Given the description of an element on the screen output the (x, y) to click on. 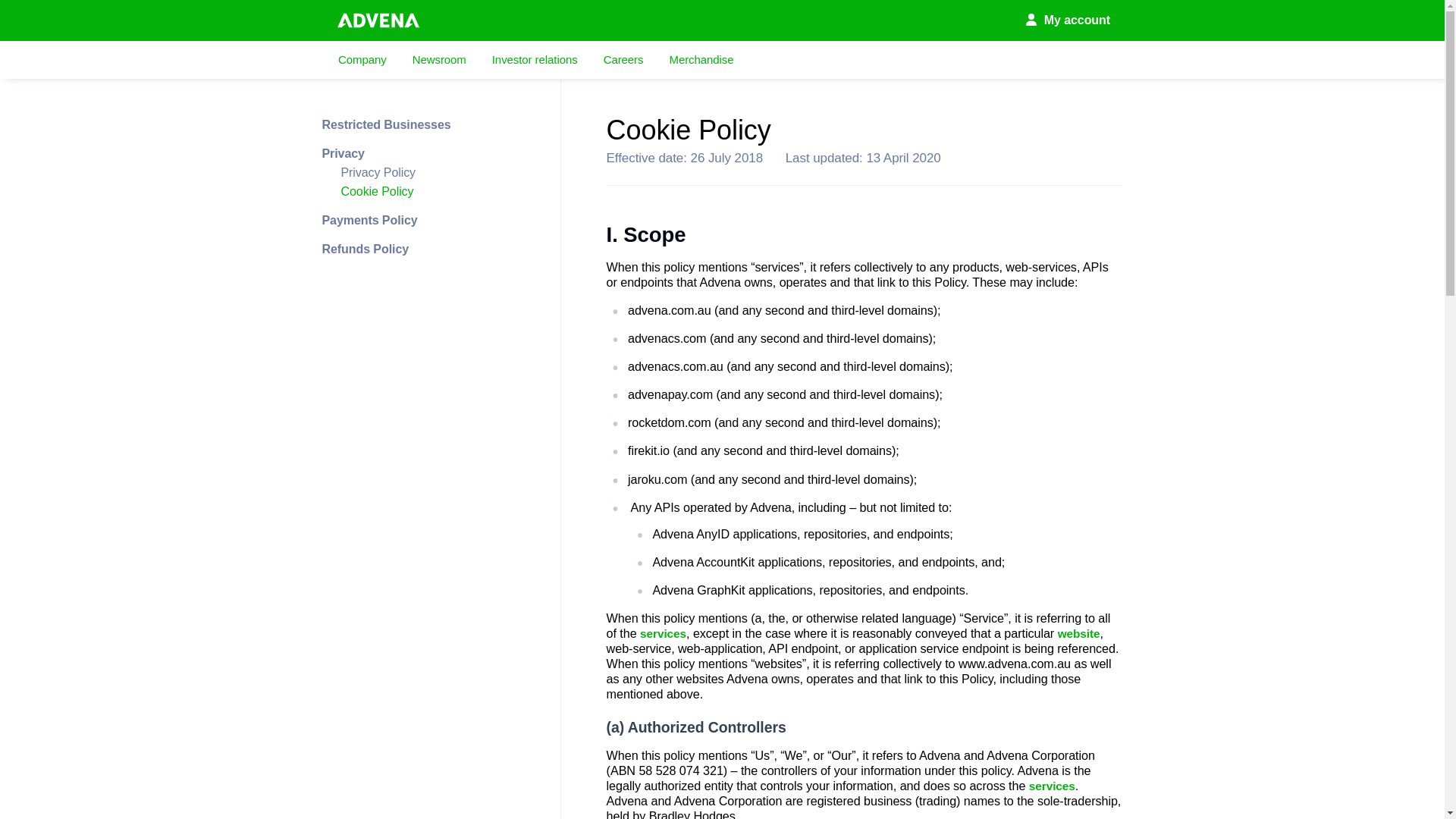
Privacy Policy (433, 172)
website (1079, 634)
Refunds Policy (423, 249)
Cookie Policy (433, 191)
Investor relations (535, 59)
My account (1067, 19)
services (662, 634)
Payments Policy (423, 220)
Merchandise (700, 59)
Company (361, 59)
